Given the description of an element on the screen output the (x, y) to click on. 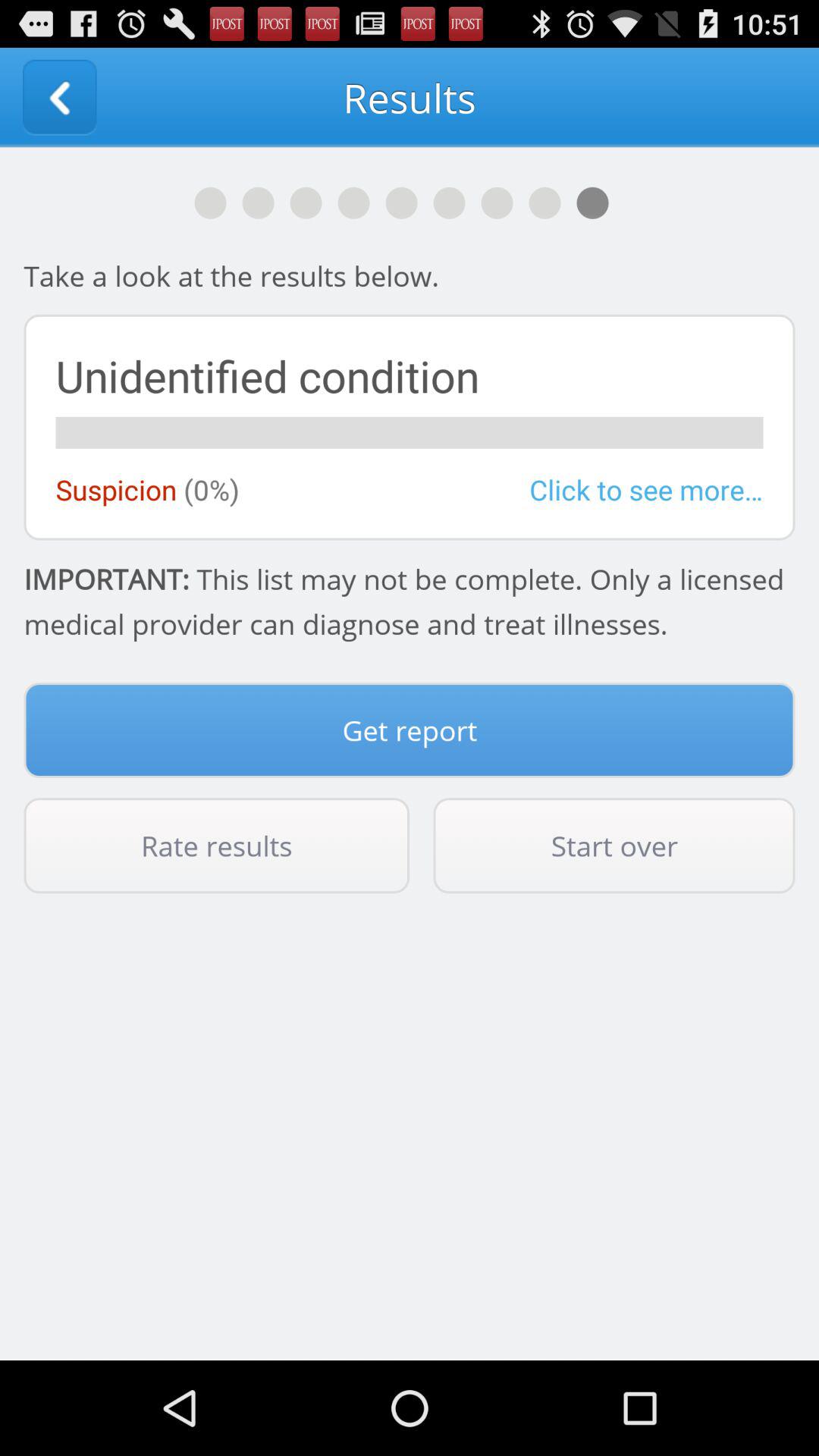
click on the icon get report (409, 729)
click on button left side of start over (216, 845)
select start over (614, 845)
